Given the description of an element on the screen output the (x, y) to click on. 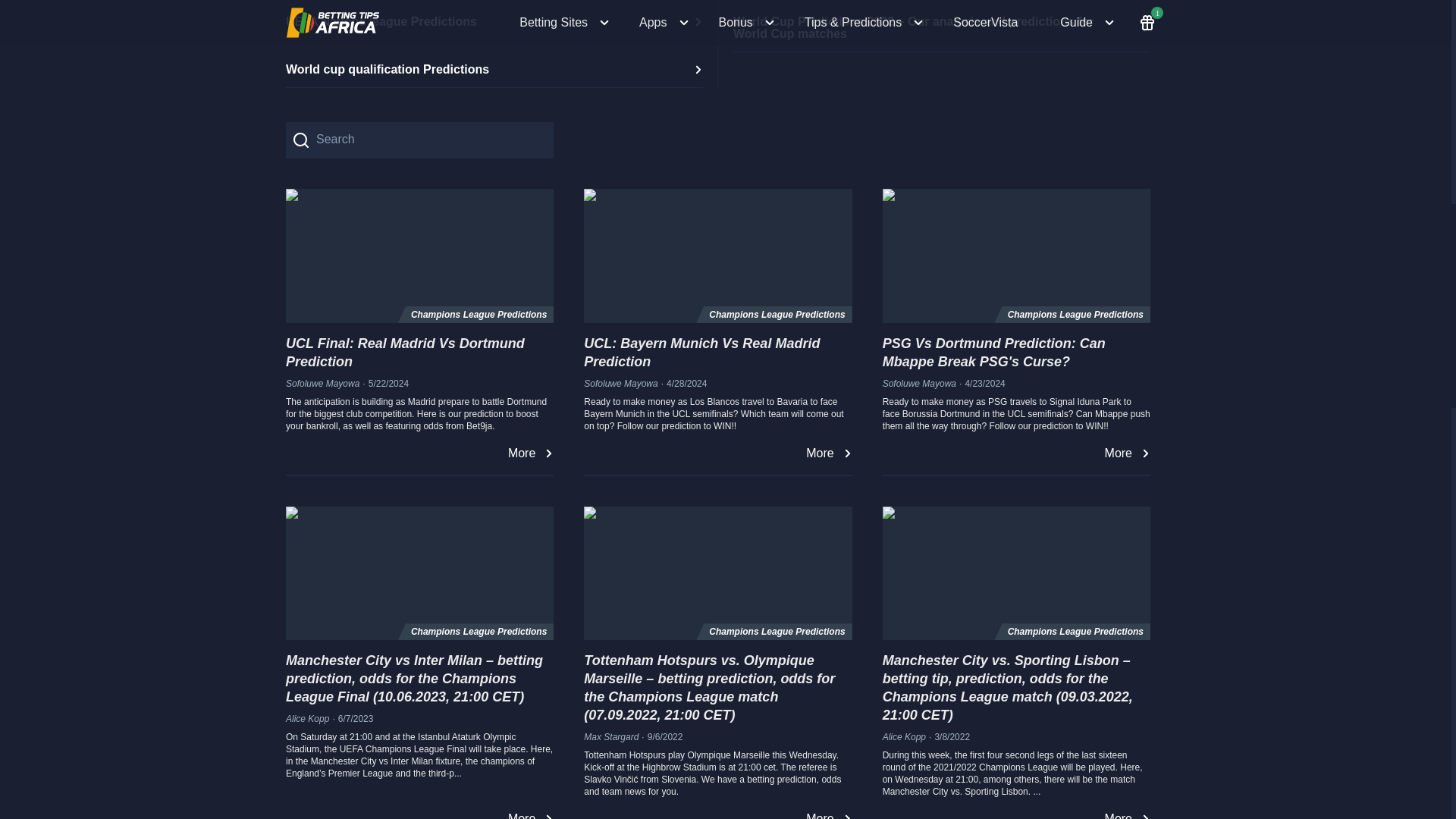
World cup qualification Predictions (494, 69)
South africa premiership predictions (494, 2)
UEFA Nations league Predictions (494, 22)
Tennis predictions (941, 2)
